Given the description of an element on the screen output the (x, y) to click on. 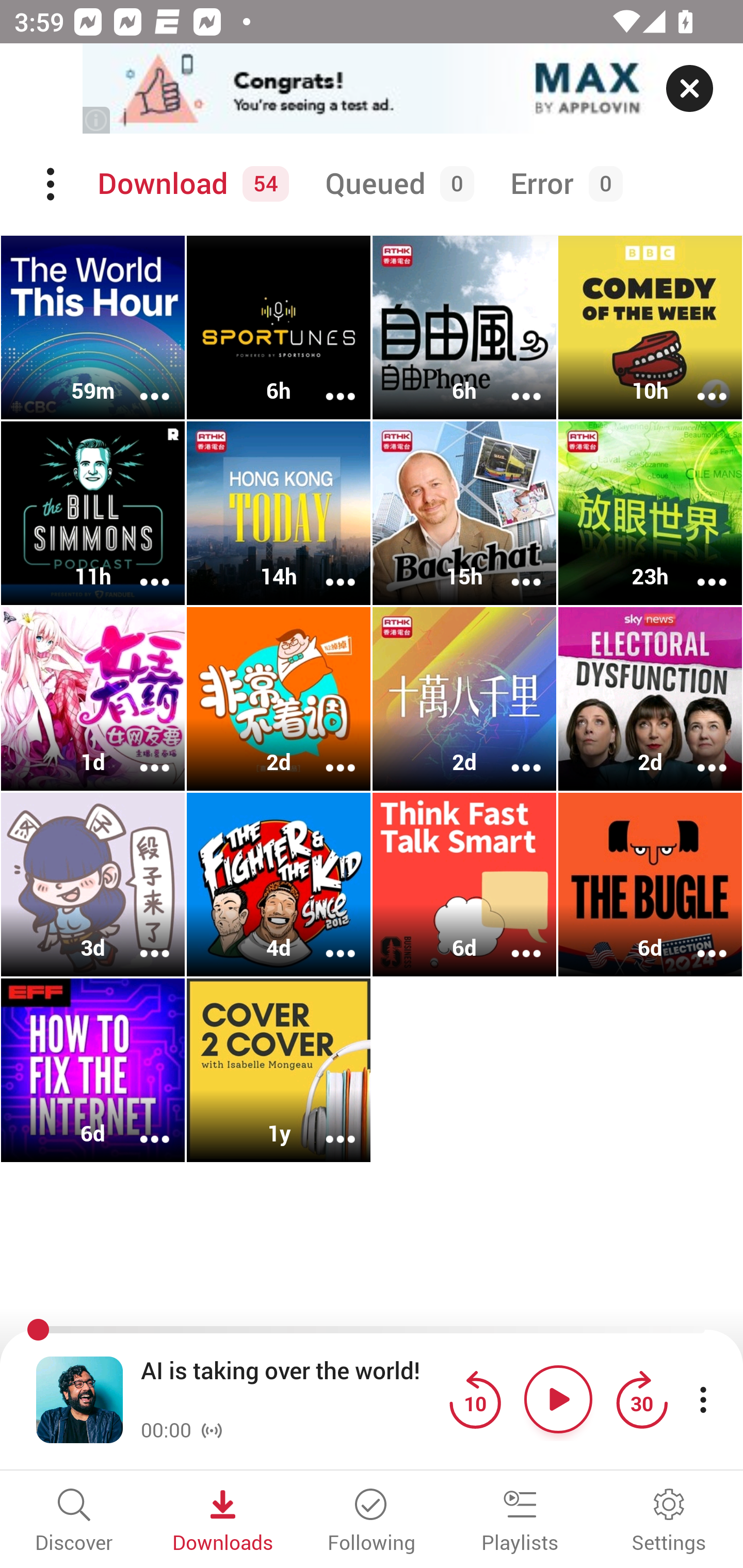
app-monetization (371, 88)
(i) (96, 119)
Menu (52, 184)
 Download 54 (189, 184)
 Queued 0 (396, 184)
 Error 0 (562, 184)
The World This Hour 59m More options More options (92, 327)
Sportunes HK 6h More options More options (278, 327)
自由风自由PHONE 6h More options More options (464, 327)
Comedy of the Week 10h More options More options (650, 327)
More options (141, 382)
More options (326, 382)
More options (512, 382)
More options (698, 382)
Hong Kong Today 14h More options More options (278, 513)
Backchat 15h More options More options (464, 513)
放眼世界 23h More options More options (650, 513)
More options (141, 569)
More options (326, 569)
More options (512, 569)
More options (698, 569)
女王有药丨爆笑脱口秀 1d More options More options (92, 698)
非常不着调 2d More options More options (278, 698)
十萬八千里 2d More options More options (464, 698)
Electoral Dysfunction 2d More options More options (650, 698)
More options (141, 754)
More options (326, 754)
More options (512, 754)
More options (698, 754)
段子来了 3d More options More options (92, 883)
The Fighter & The Kid 4d More options More options (278, 883)
The Bugle 6d More options More options (650, 883)
More options (141, 940)
More options (326, 940)
More options (512, 940)
More options (698, 940)
Cover 2 Cover 1y More options More options (278, 1069)
More options (141, 1125)
More options (326, 1125)
Open fullscreen player (79, 1399)
More player controls (703, 1399)
AI is taking over the world! (290, 1385)
Play button (558, 1398)
Jump back (475, 1399)
Jump forward (641, 1399)
Discover (74, 1521)
Downloads (222, 1521)
Following (371, 1521)
Playlists (519, 1521)
Settings (668, 1521)
